Given the description of an element on the screen output the (x, y) to click on. 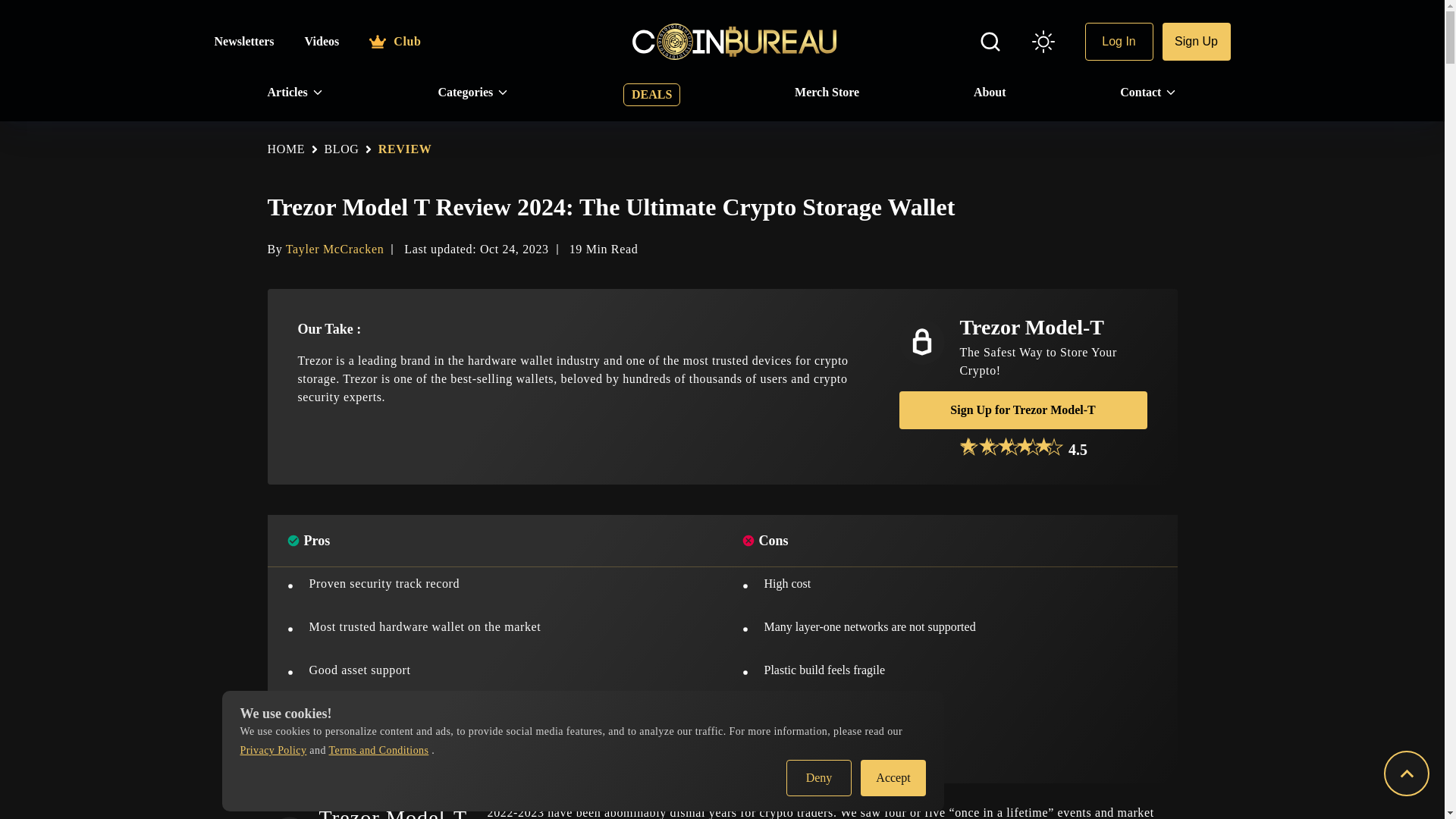
Merch Store (826, 92)
Club (394, 41)
Sign Up (1195, 41)
Log In (1118, 41)
Newsletters (243, 41)
Log In (1118, 41)
Sign Up (1195, 41)
About (990, 92)
DEALS (651, 94)
Videos (322, 41)
